Given the description of an element on the screen output the (x, y) to click on. 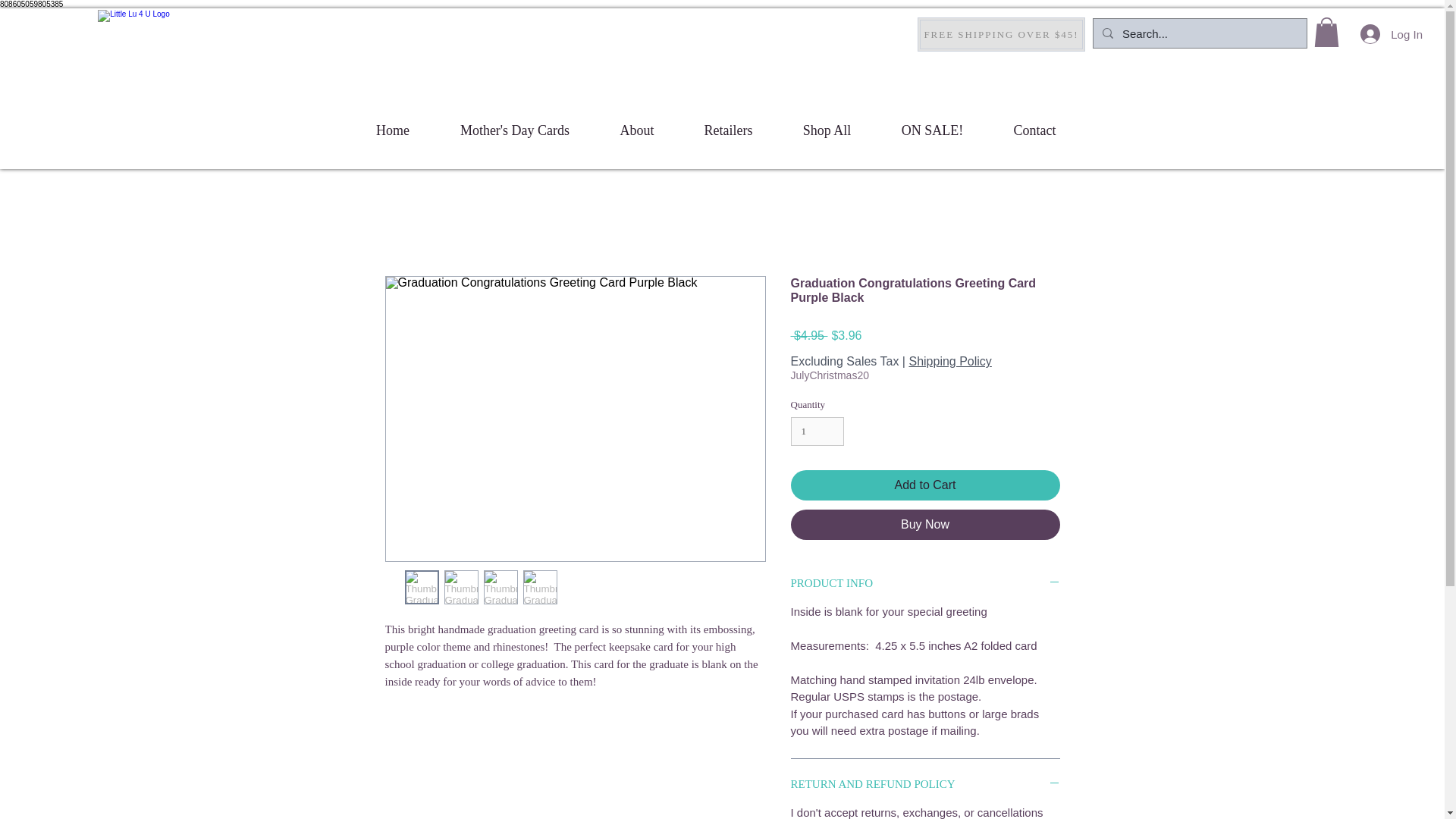
ON SALE! (932, 129)
1 (817, 430)
Shop All (826, 129)
Retailers (728, 129)
Add to Cart (924, 485)
Shipping Policy (949, 361)
Contact (1034, 129)
About (636, 129)
Log In (1390, 33)
Home (391, 129)
Mother's Day Cards (515, 129)
